Given the description of an element on the screen output the (x, y) to click on. 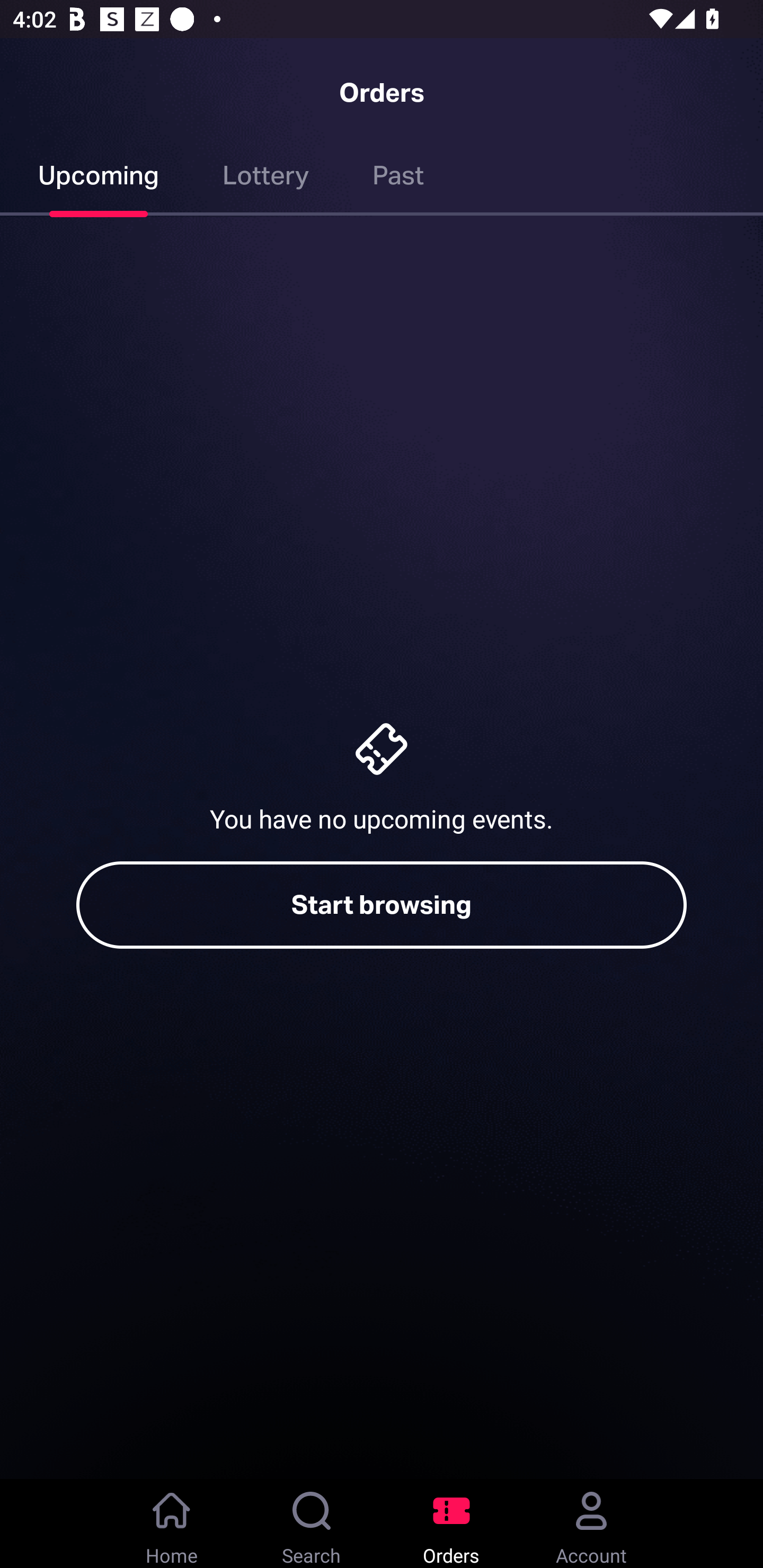
Lottery (265, 179)
Past (398, 179)
Start browsing (381, 904)
Home (171, 1523)
Search (311, 1523)
Account (591, 1523)
